Given the description of an element on the screen output the (x, y) to click on. 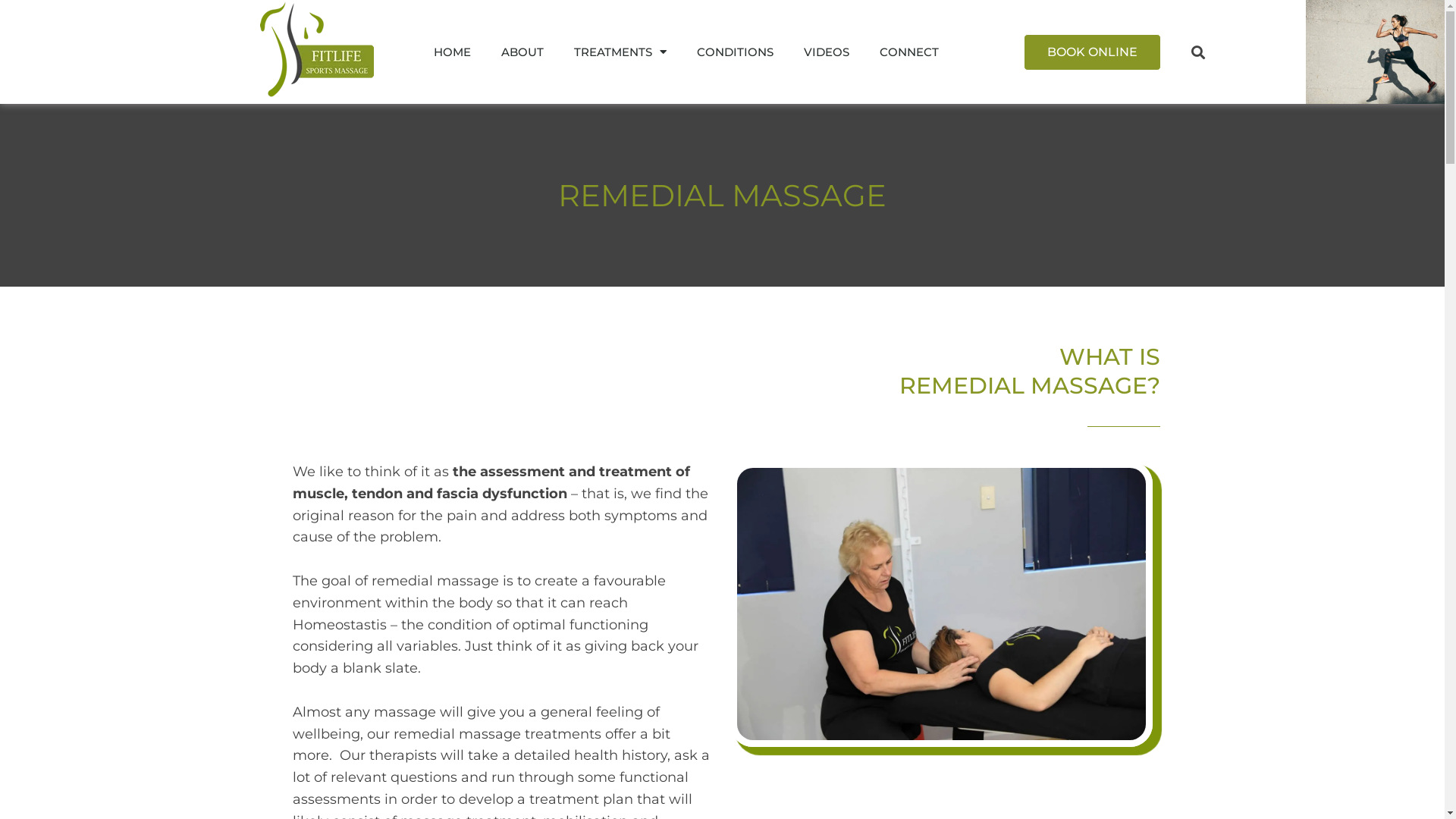
CONDITIONS Element type: text (734, 51)
CONNECT Element type: text (908, 51)
VIDEOS Element type: text (826, 51)
BOOK ONLINE Element type: text (1092, 51)
ABOUT Element type: text (522, 51)
TREATMENTS Element type: text (619, 51)
HOME Element type: text (452, 51)
